Given the description of an element on the screen output the (x, y) to click on. 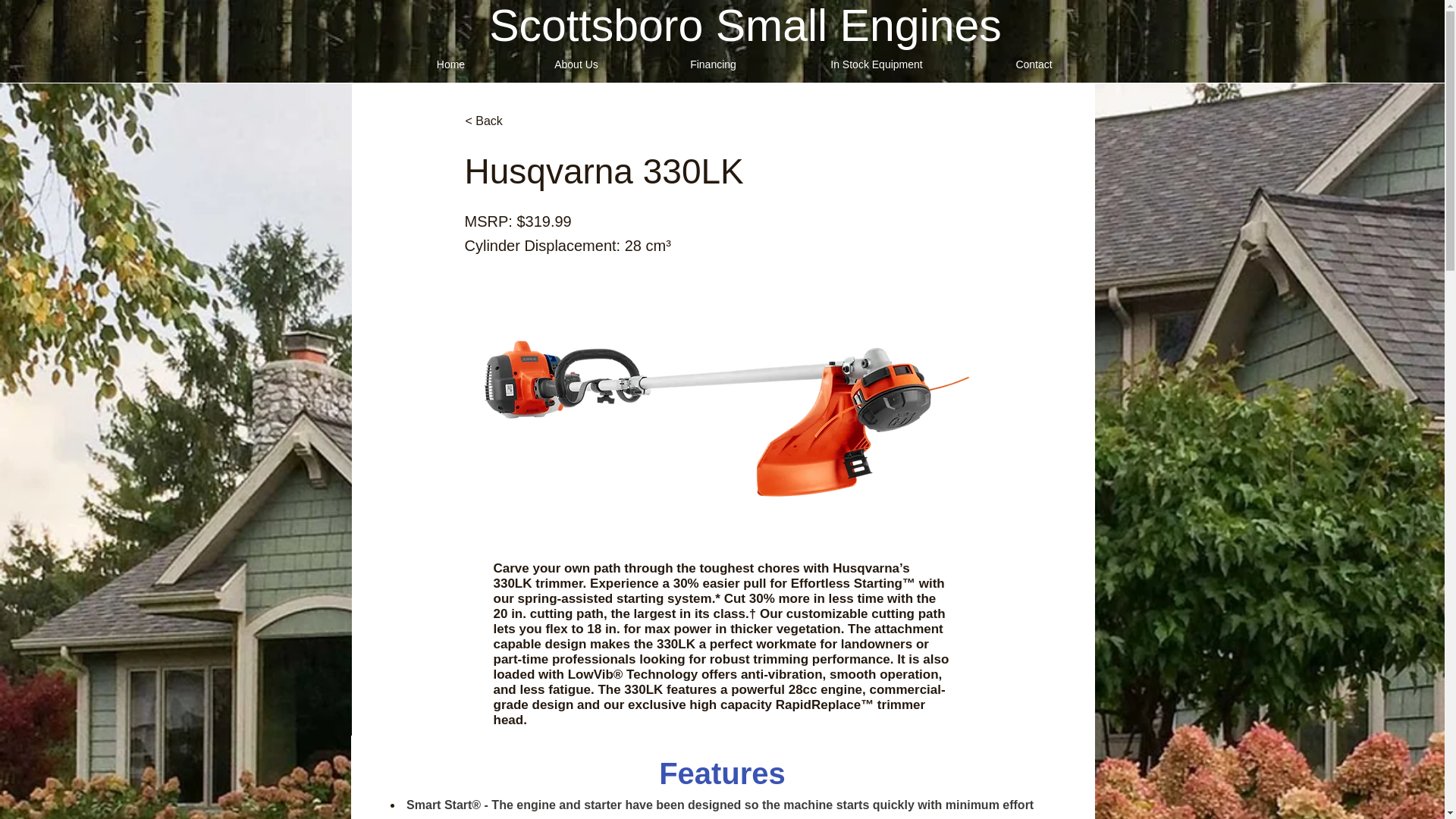
Contact (1034, 64)
Financing (713, 64)
About Us (575, 64)
Home (450, 64)
In Stock Equipment (877, 64)
